Given the description of an element on the screen output the (x, y) to click on. 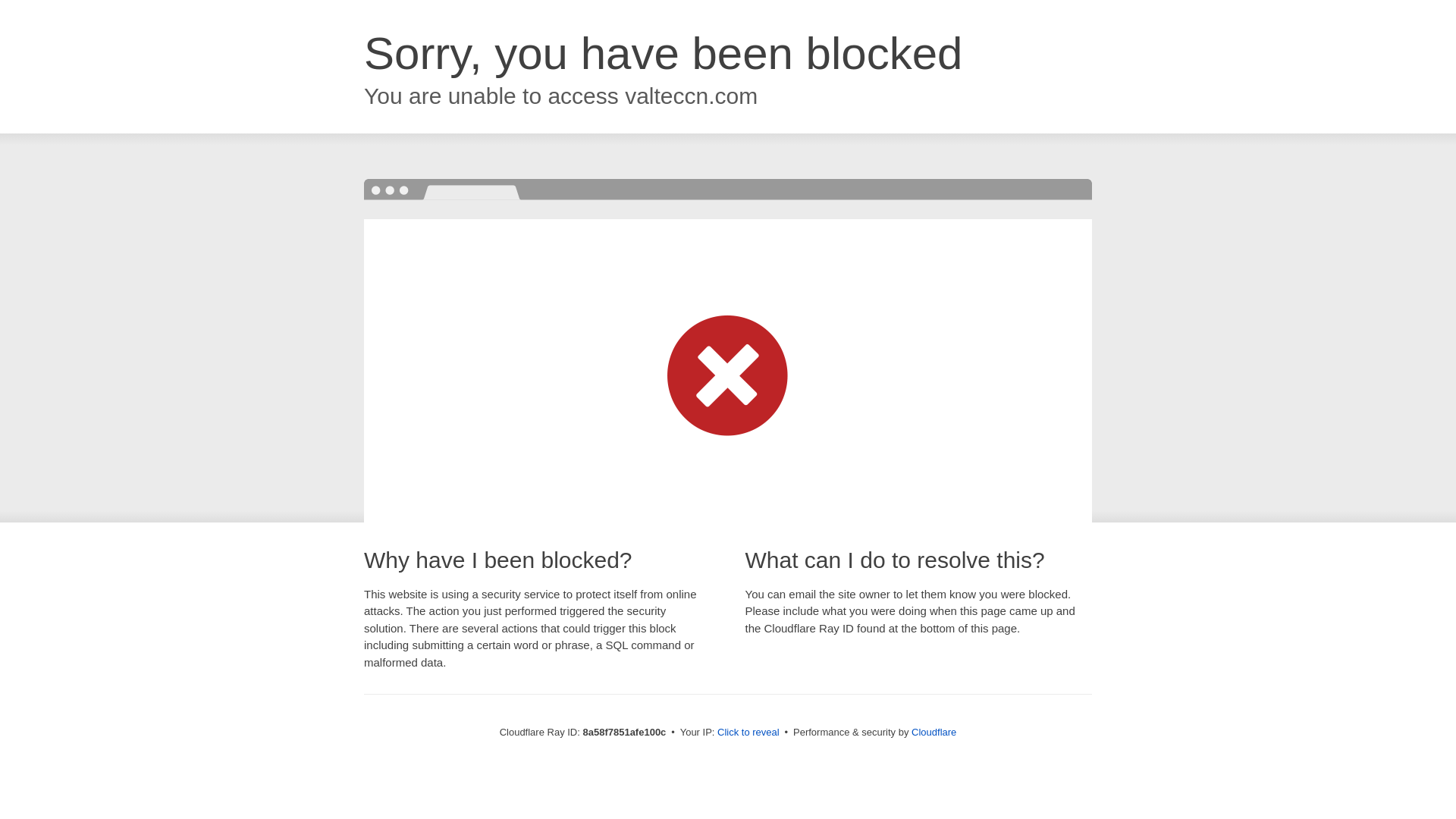
Click to reveal (747, 732)
Cloudflare (933, 731)
